Given the description of an element on the screen output the (x, y) to click on. 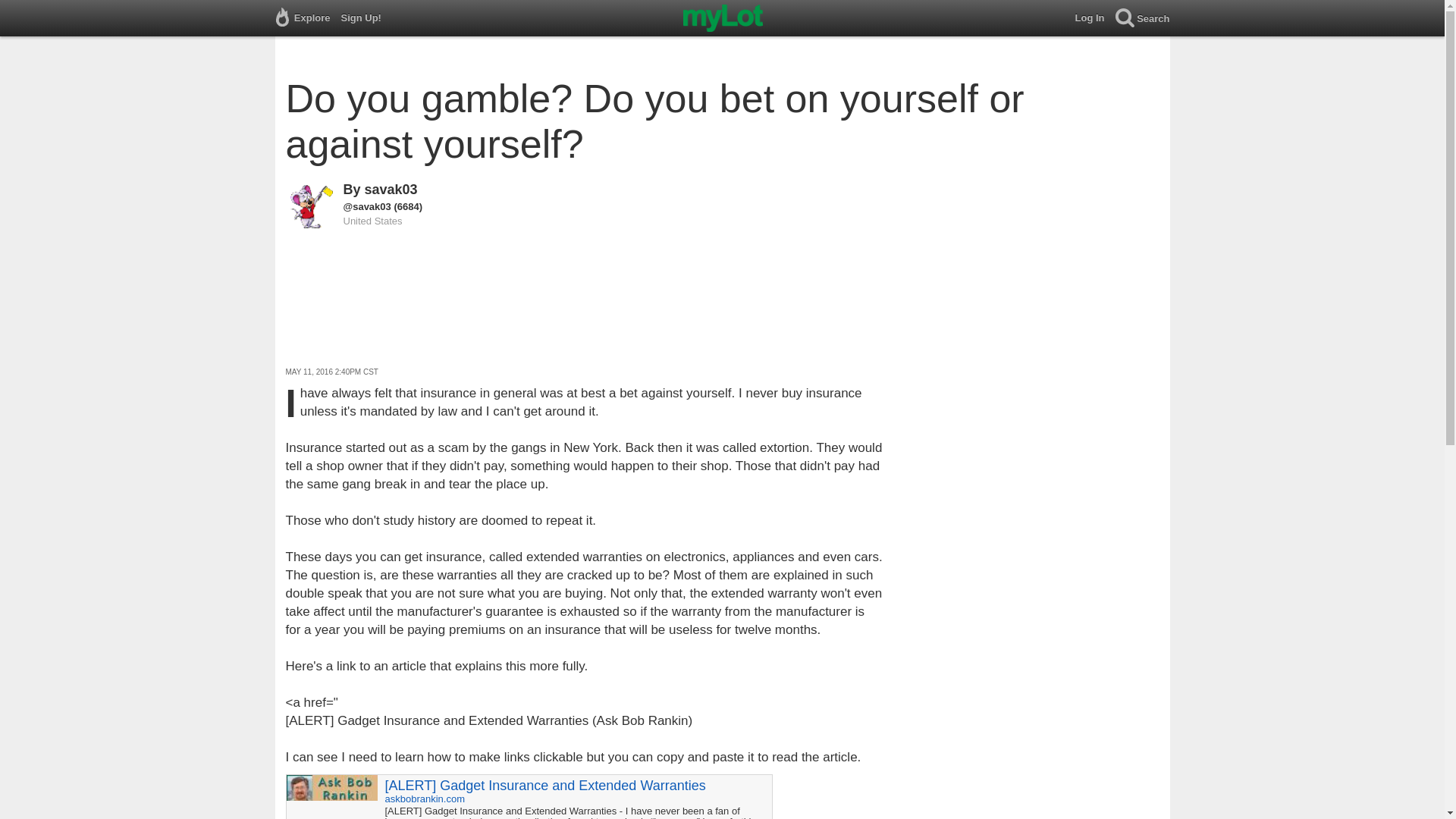
Log In (1095, 18)
savak03 (391, 189)
Sign Up! (365, 18)
askbobrankin.com (425, 798)
